Given the description of an element on the screen output the (x, y) to click on. 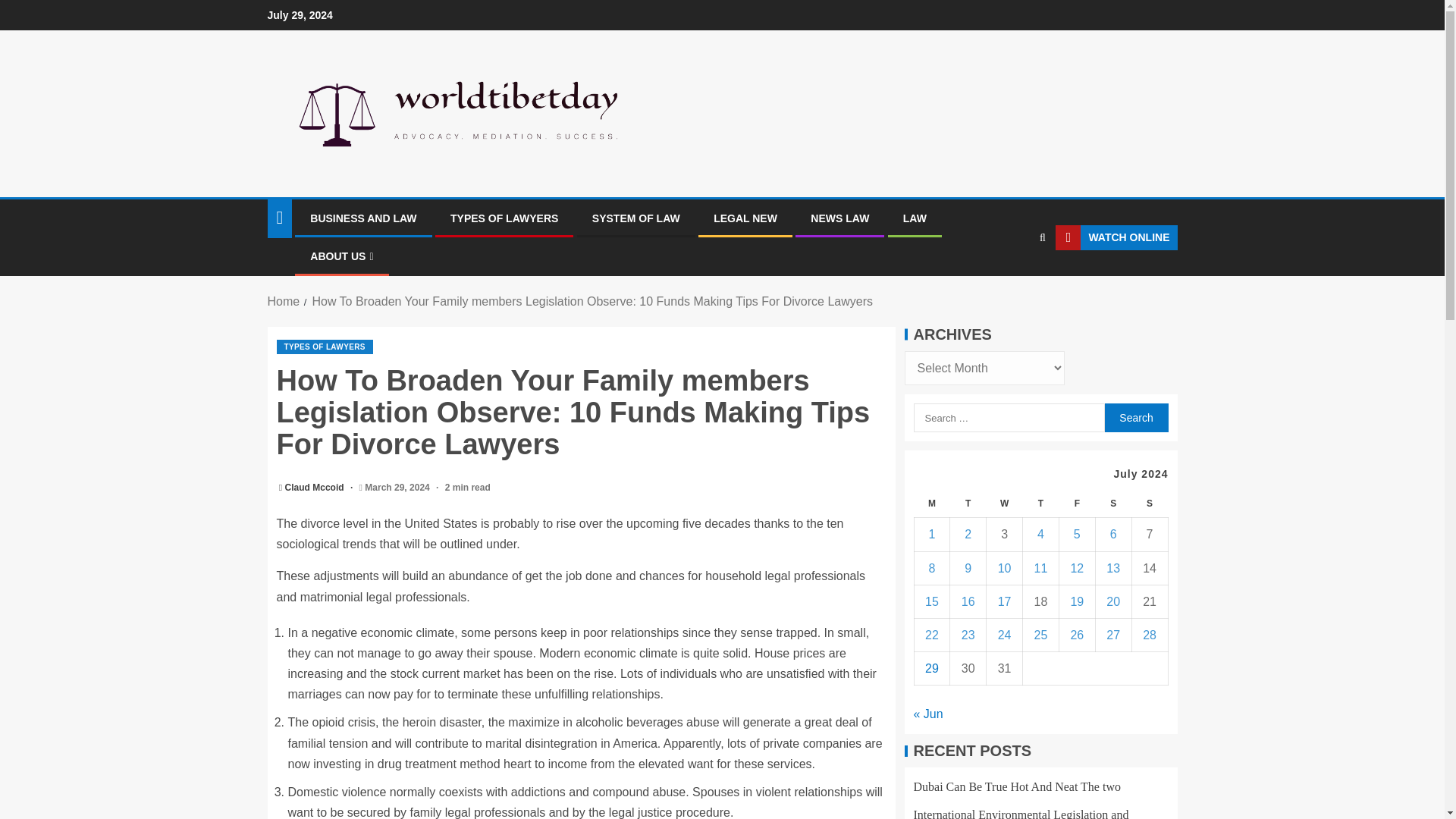
ABOUT US (341, 256)
Wednesday (1005, 503)
Thursday (1041, 503)
WATCH ONLINE (1115, 237)
Monday (932, 503)
TYPES OF LAWYERS (324, 346)
Search (1135, 417)
Search (1135, 417)
Claud Mccoid (315, 487)
Saturday (1112, 503)
SYSTEM OF LAW (635, 218)
Tuesday (968, 503)
BUSINESS AND LAW (363, 218)
TYPES OF LAWYERS (503, 218)
